Given the description of an element on the screen output the (x, y) to click on. 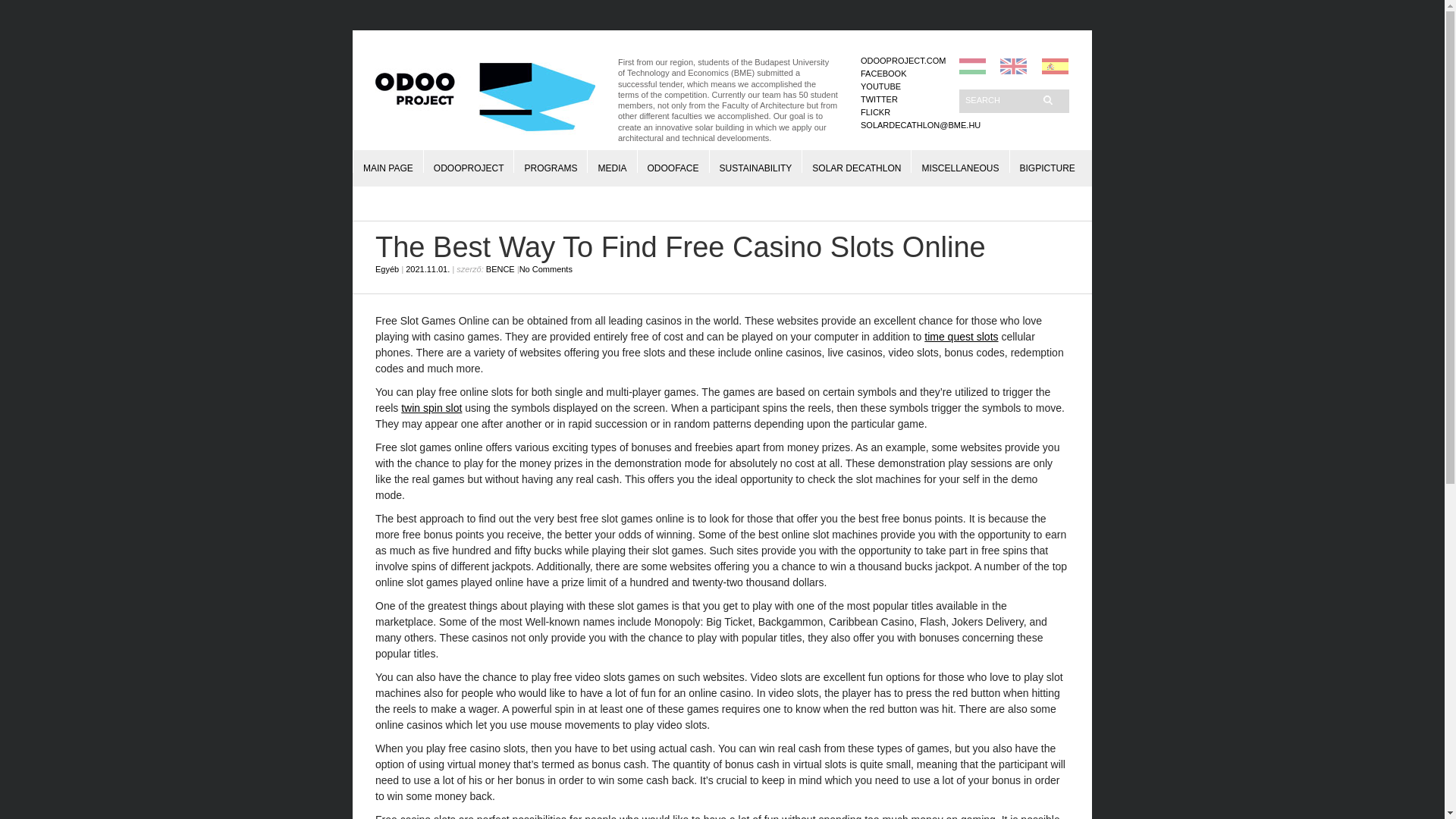
BIGPICTURE (1046, 160)
Posts by bence (500, 268)
SOLAR DECATHLON (856, 160)
time quest slots (960, 336)
ODOOPROJECT (468, 160)
ODOOFACE (672, 160)
ODOOPROJECT.COM (902, 60)
FACEBOOK (883, 72)
YOUTUBE (880, 85)
FLICKR (874, 112)
PROGRAMS (550, 160)
SUSTAINABILITY (755, 160)
TWITTER (879, 99)
BENCE (500, 268)
MISCELLANEOUS (959, 160)
